Given the description of an element on the screen output the (x, y) to click on. 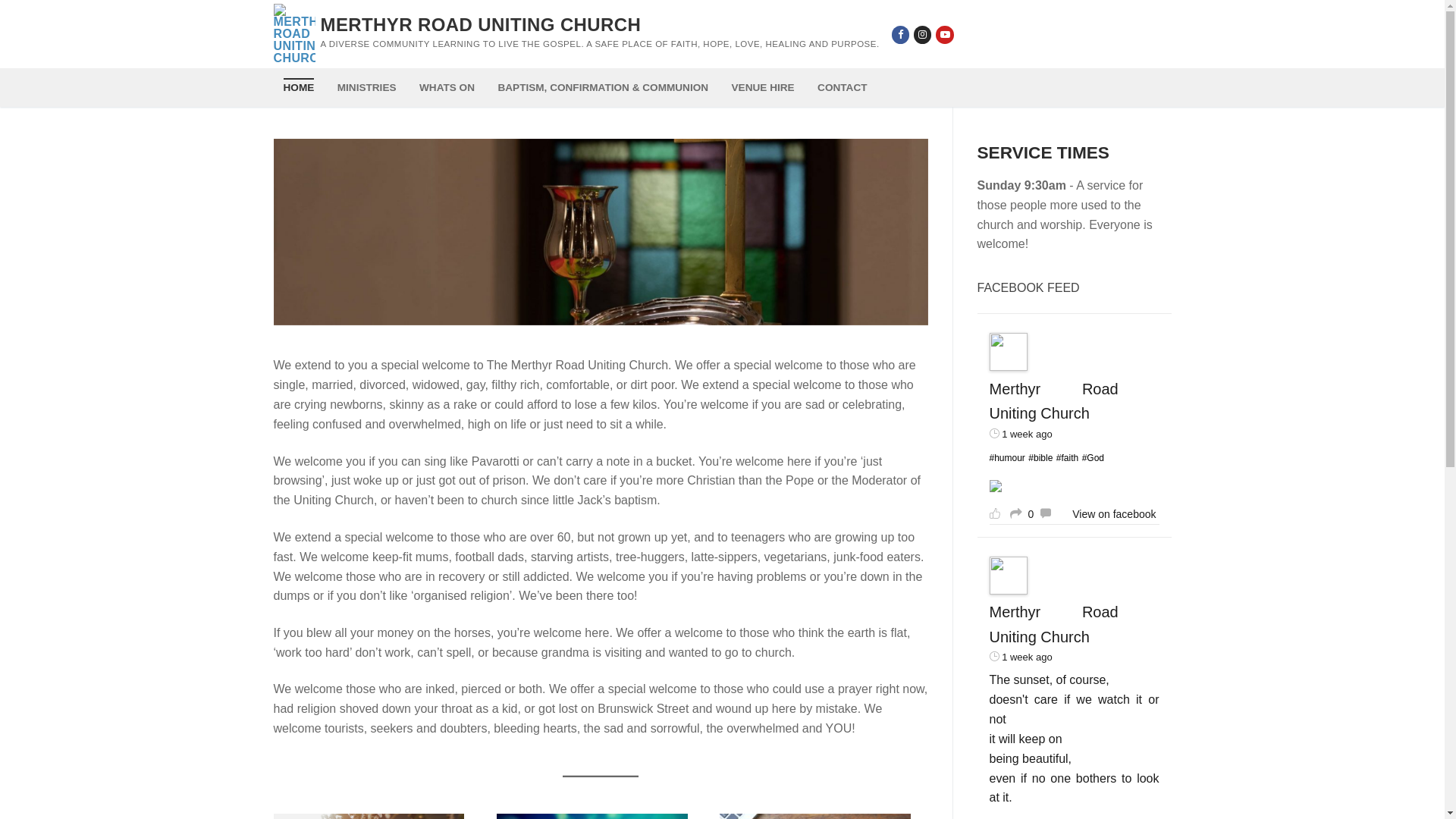
WHATS ON Element type: text (446, 87)
CONTACT Element type: text (841, 87)
#God Element type: text (1093, 457)
Merthyr Road Uniting Church Element type: text (1052, 623)
Merthyr Road Uniting Church Element type: text (1052, 400)
#faith Element type: text (1067, 457)
View on facebook Element type: text (1113, 513)
#humour Element type: text (1006, 457)
Youtube Element type: hover (945, 34)
MRUC Element type: hover (600, 232)
MINISTRIES Element type: text (366, 87)
3 Element type: text (621, 332)
2 Element type: text (601, 332)
Facebook Element type: hover (900, 34)
MERTHYR ROAD UNITING CHURCH Element type: text (480, 24)
HOME Element type: text (298, 87)
Instagram Element type: hover (922, 34)
BAPTISM, CONFIRMATION & COMMUNION Element type: text (602, 87)
VENUE HIRE Element type: text (762, 87)
1 Element type: text (581, 332)
#bible Element type: text (1040, 457)
